Given the description of an element on the screen output the (x, y) to click on. 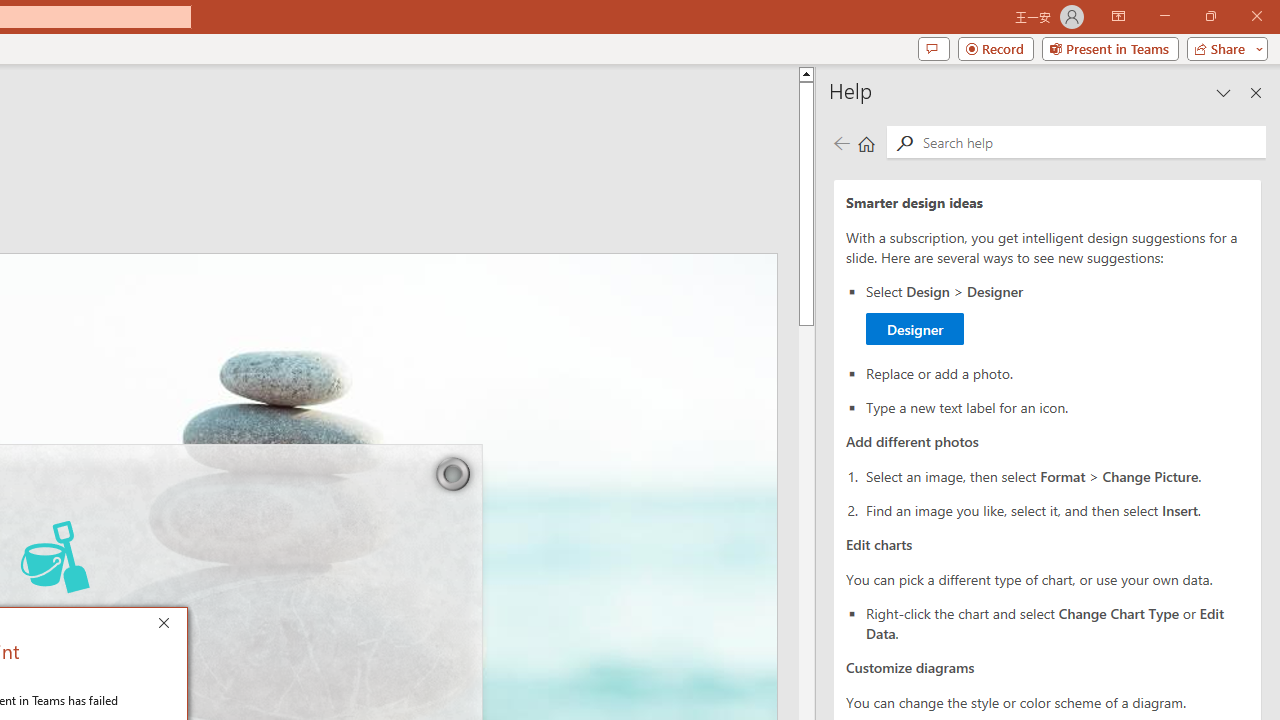
Previous page (841, 143)
Find an image you like, select it, and then select Insert. (1057, 509)
Replace or add a photo. (1057, 372)
